Given the description of an element on the screen output the (x, y) to click on. 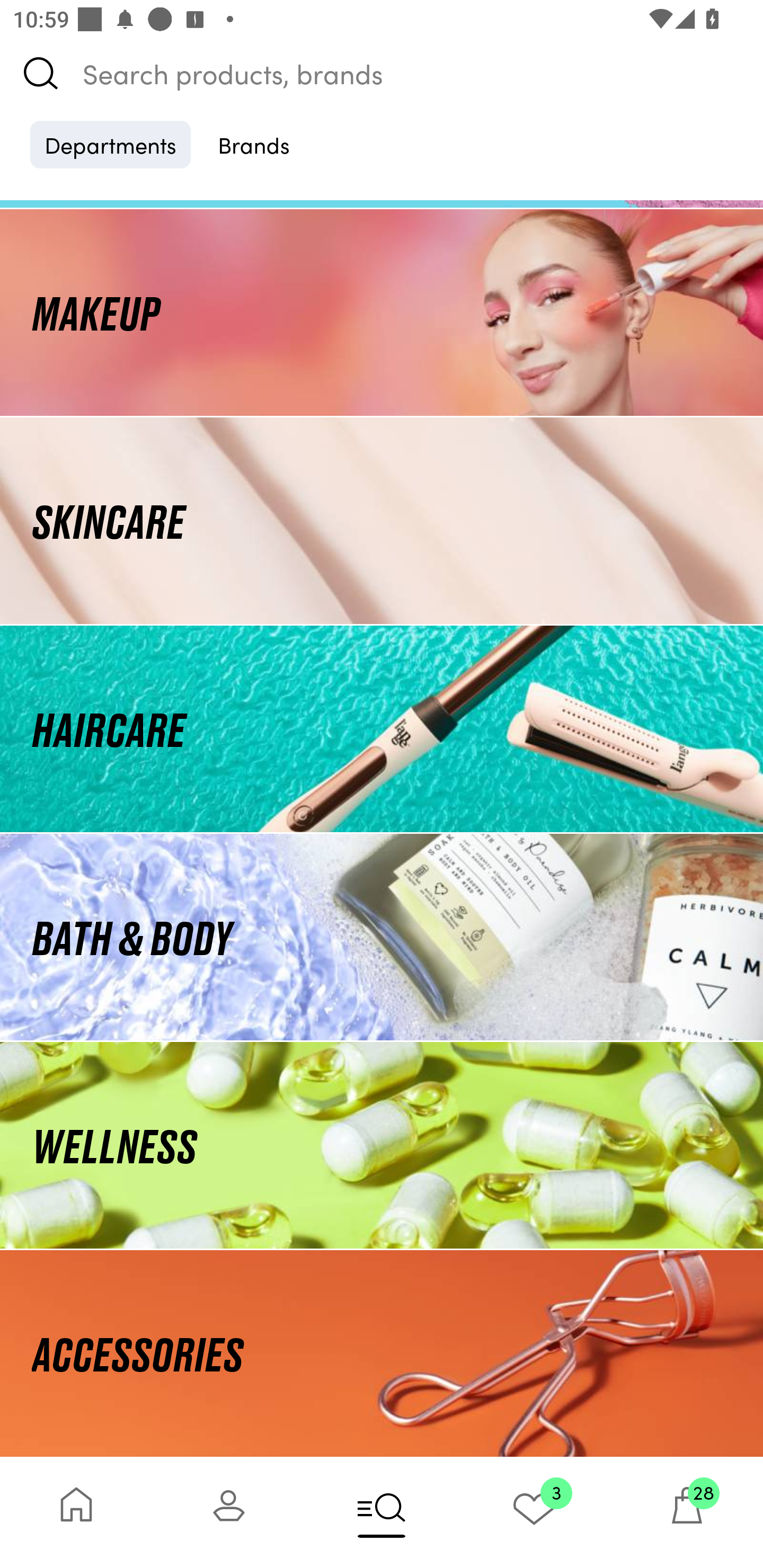
Search products, brands (381, 72)
Departments (110, 143)
Brands (253, 143)
MAKEUP (381, 311)
SKINCARE (381, 520)
HAIRCARE (381, 728)
BATH & BODY (381, 937)
WELLNESS (381, 1145)
ACCESSORIES (381, 1352)
3 (533, 1512)
28 (686, 1512)
